Given the description of an element on the screen output the (x, y) to click on. 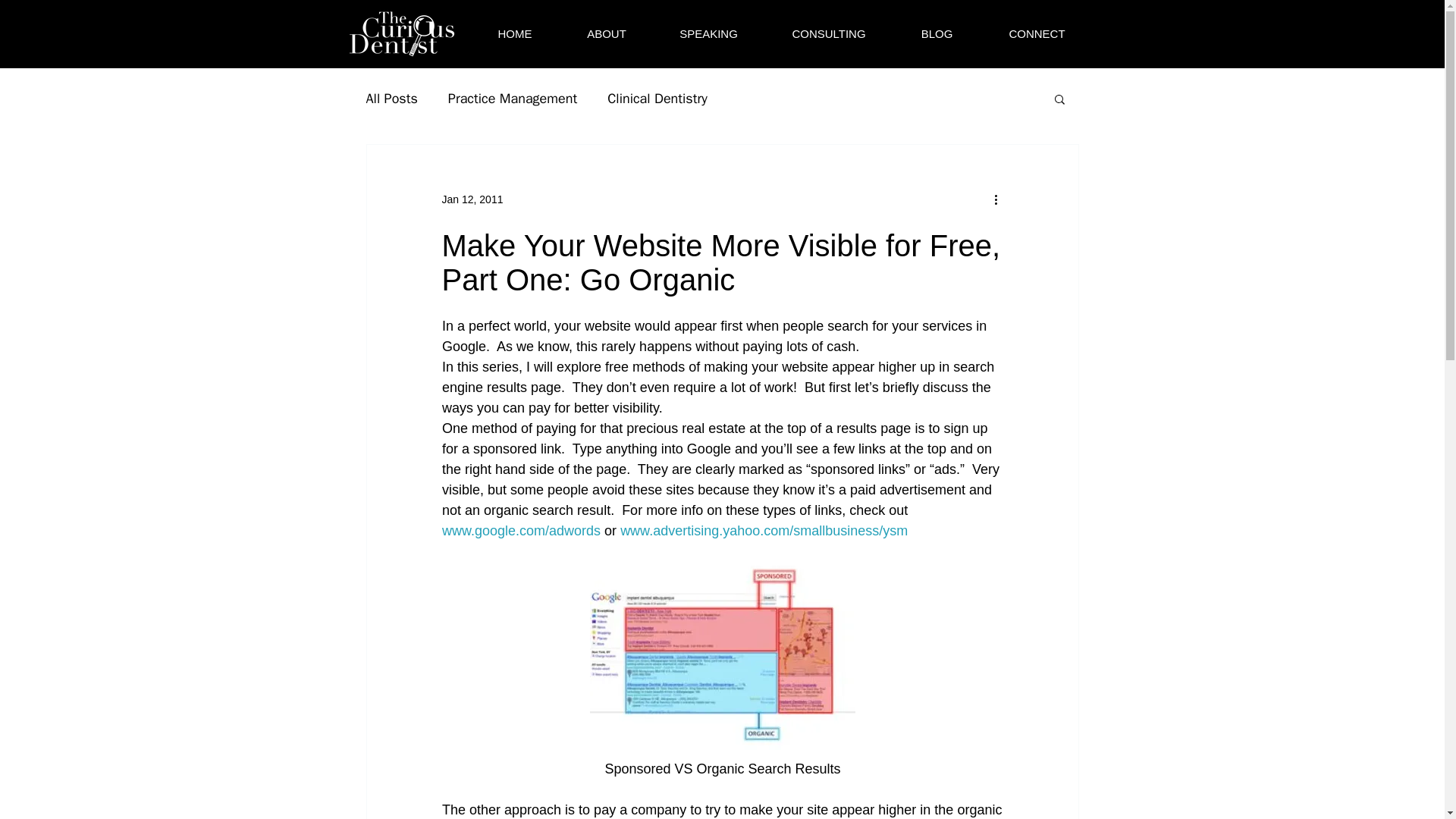
ABOUT (605, 34)
BLOG (936, 34)
CONNECT (1036, 34)
Clinical Dentistry (657, 98)
HOME (515, 34)
All Posts (390, 98)
SPEAKING (708, 34)
Practice Management (512, 98)
Jan 12, 2011 (471, 198)
CONSULTING (828, 34)
